Given the description of an element on the screen output the (x, y) to click on. 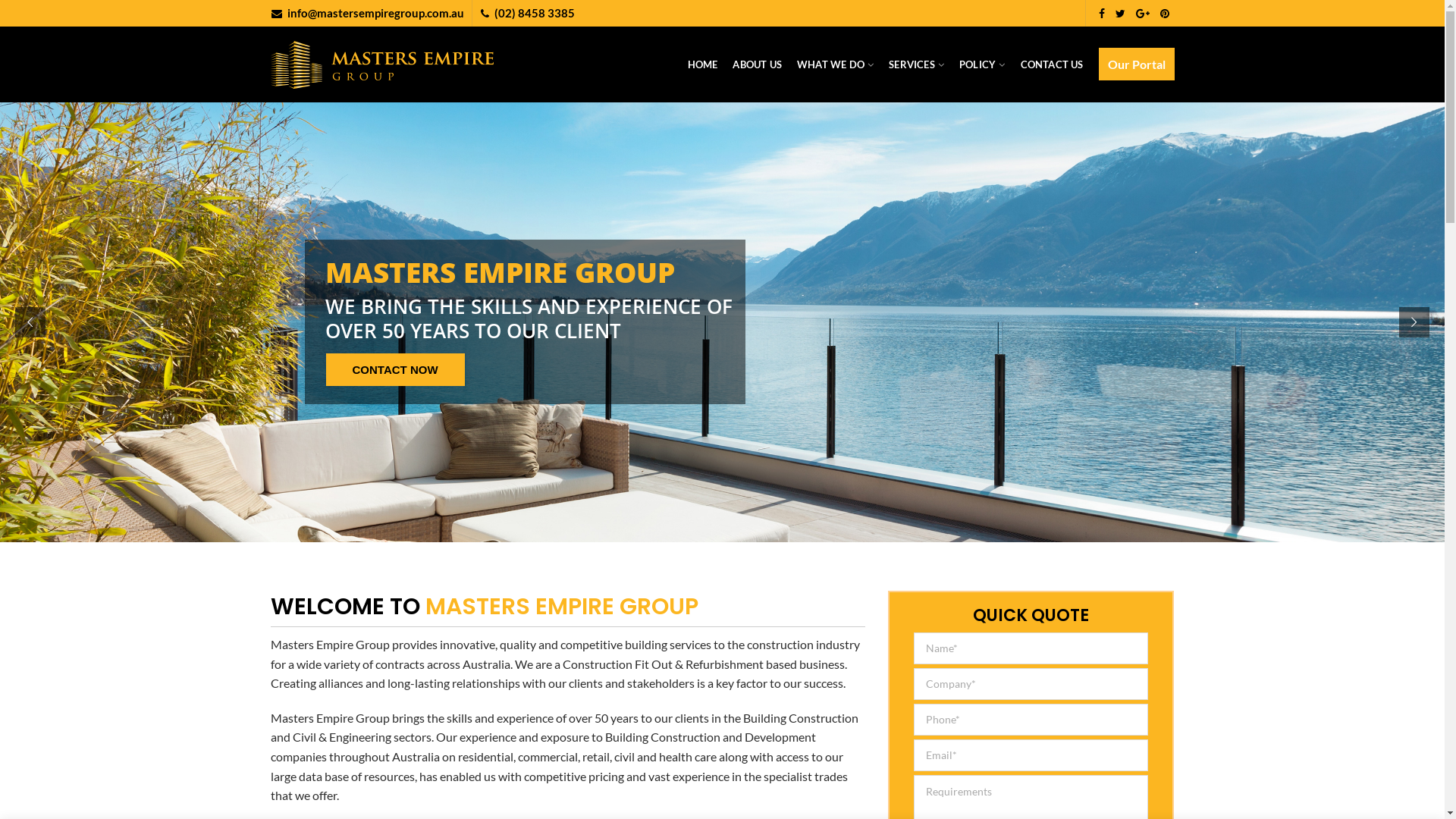
WHAT WE DO Element type: text (835, 64)
(02) 8458 3385 Element type: text (534, 12)
Our Portal Element type: text (1135, 63)
Google Element type: text (1141, 12)
SERVICES Element type: text (916, 64)
POLICY Element type: text (981, 64)
info@mastersempiregroup.com.au Element type: text (374, 12)
HOME Element type: text (702, 64)
Facebook Element type: text (1101, 12)
ABOUT US Element type: text (756, 64)
CONTACT US Element type: text (1052, 64)
Pinterest Element type: text (1163, 12)
Twitter Element type: text (1120, 12)
